Given the description of an element on the screen output the (x, y) to click on. 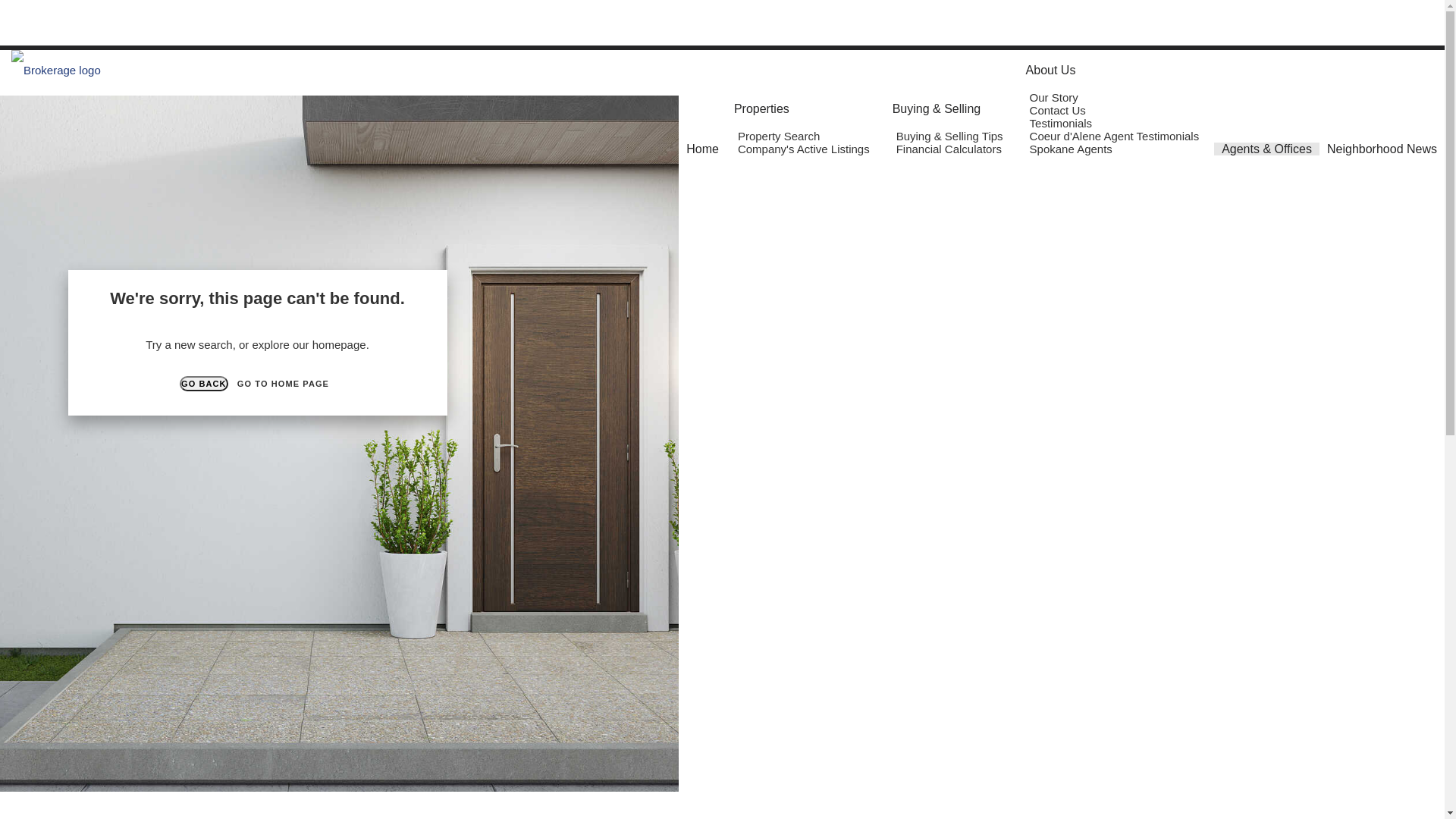
Financial Calculators Element type: text (950, 148)
Properties Element type: text (761, 108)
Contact Us Element type: text (1059, 110)
Company's Active Listings Element type: text (805, 148)
GO BACK Element type: text (203, 383)
GO TO HOME PAGE Element type: text (283, 383)
Neighborhood News Element type: text (1381, 148)
Agents & Offices Element type: text (1266, 148)
Home Element type: text (702, 148)
Our Story Element type: text (1055, 97)
Testimonials Element type: text (1062, 123)
About Us Element type: text (1050, 69)
Property Search Element type: text (780, 135)
Spokane Agents Element type: text (1072, 148)
Buying & Selling Tips Element type: text (951, 135)
Buying & Selling Element type: text (936, 108)
Coeur d'Alene Agent Testimonials Element type: text (1116, 135)
